Given the description of an element on the screen output the (x, y) to click on. 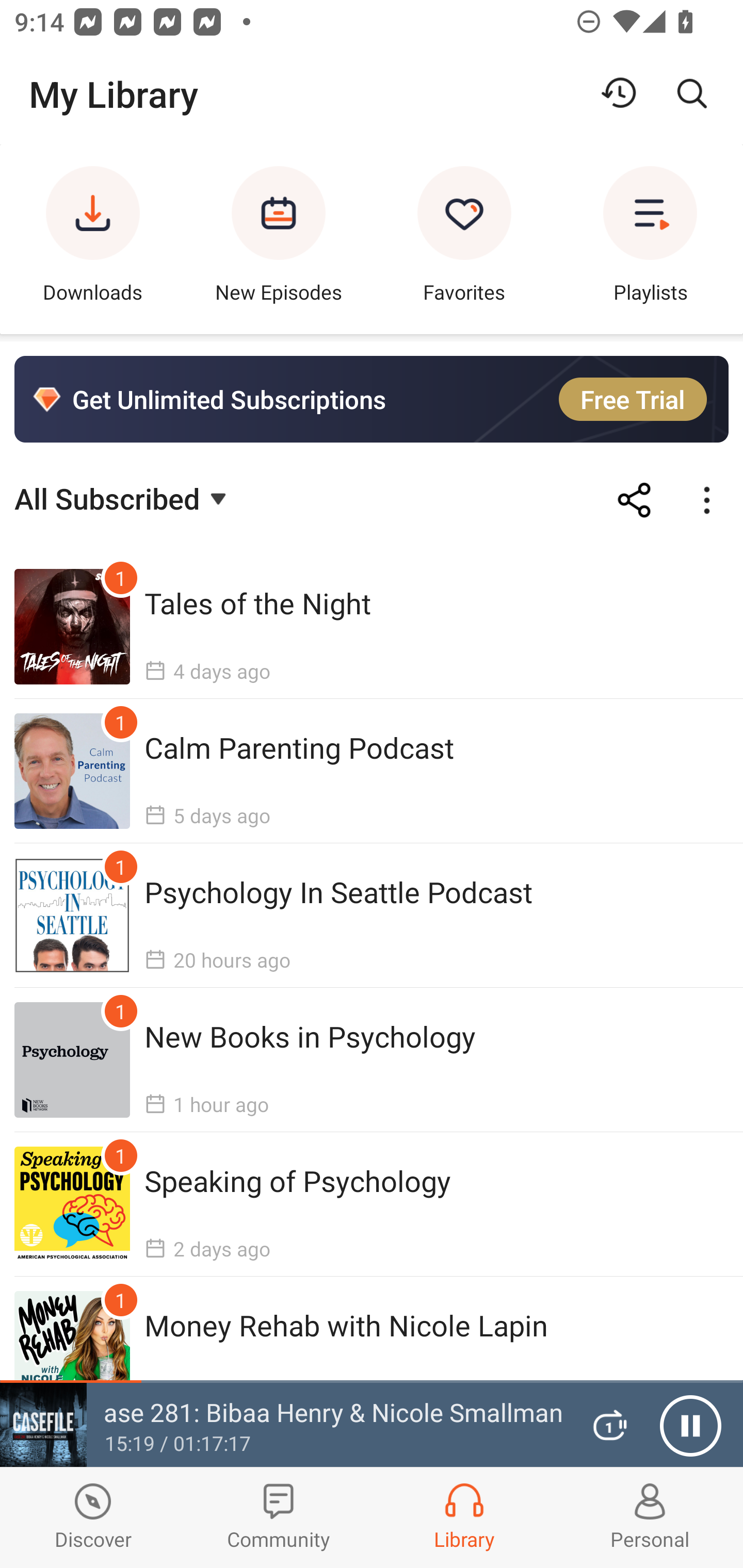
Downloads (92, 238)
New Episodes (278, 238)
Favorites (464, 238)
Playlists (650, 238)
Get Unlimited Subscriptions Free Trial (371, 398)
Free Trial (632, 398)
All Subscribed (123, 497)
Pause (690, 1425)
Discover (92, 1517)
Community (278, 1517)
Library (464, 1517)
Profiles and Settings Personal (650, 1517)
